Given the description of an element on the screen output the (x, y) to click on. 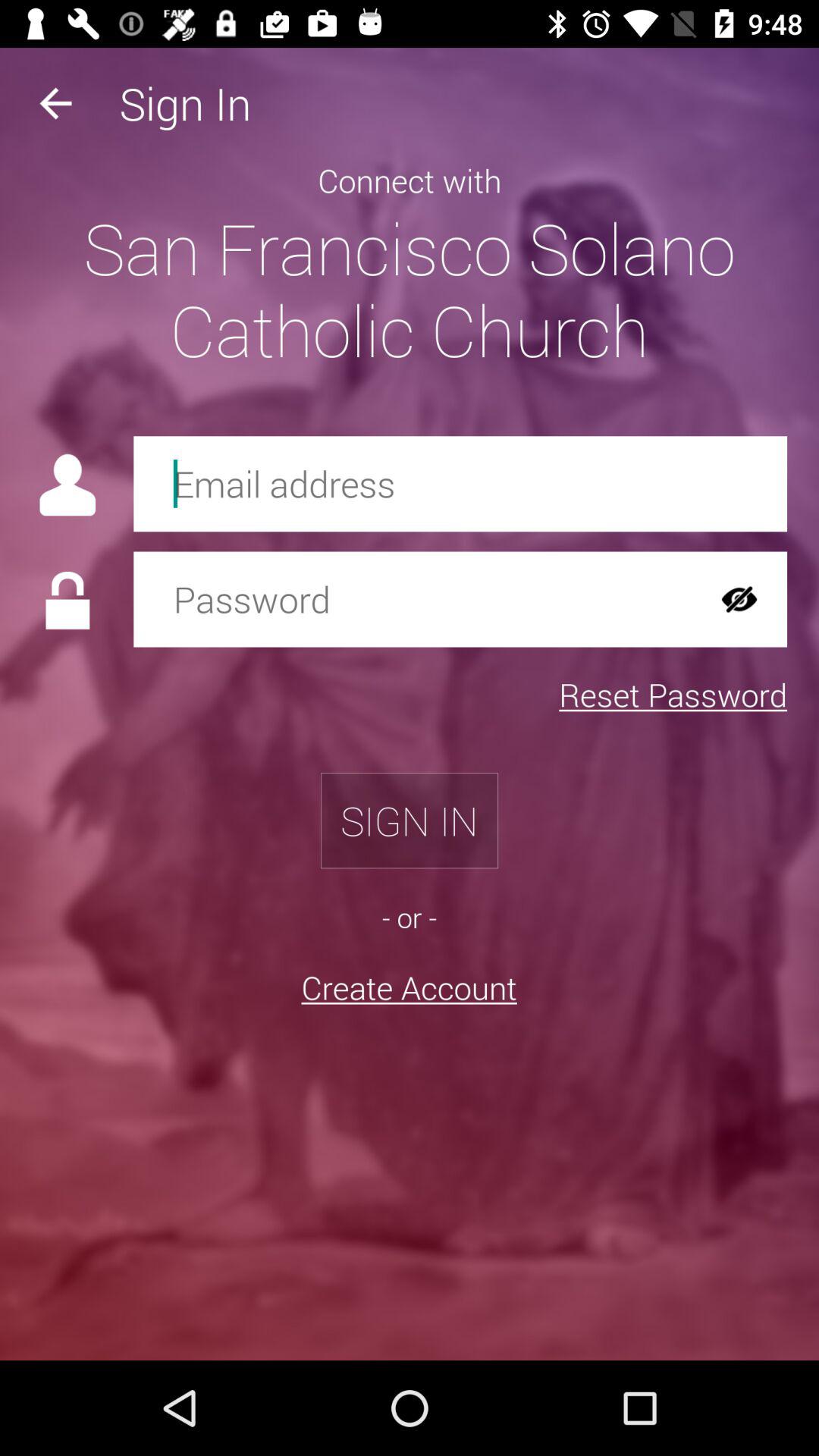
enter the password (412, 599)
